Given the description of an element on the screen output the (x, y) to click on. 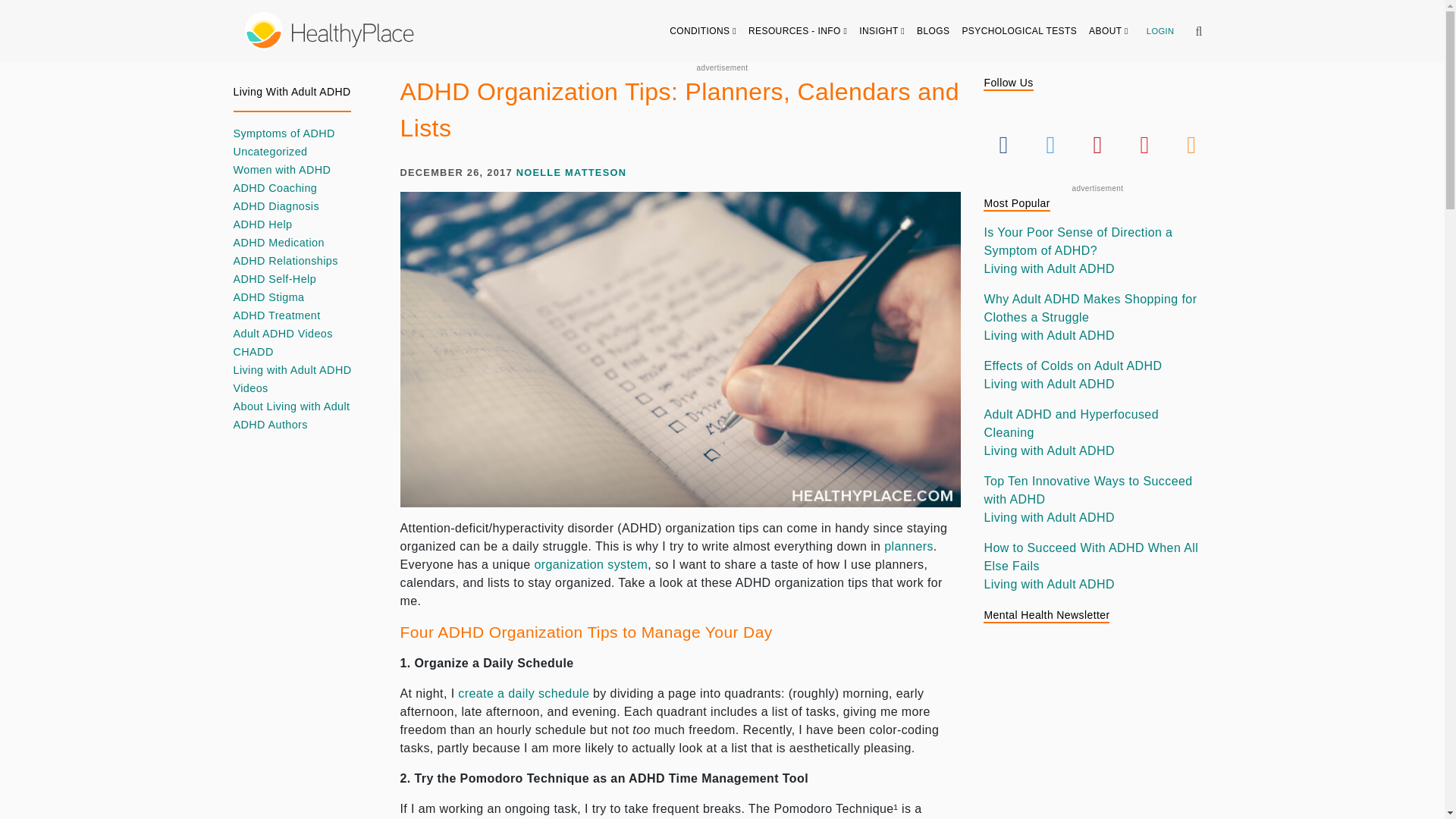
Adult ADHD and How to Manage Your Time and Stay on Schedule (523, 693)
INSIGHT (882, 31)
RESOURCES - INFO (797, 31)
CONDITIONS (702, 31)
How to Use a Day Planner (908, 545)
ADHD and How to Stay Organized (590, 563)
